Given the description of an element on the screen output the (x, y) to click on. 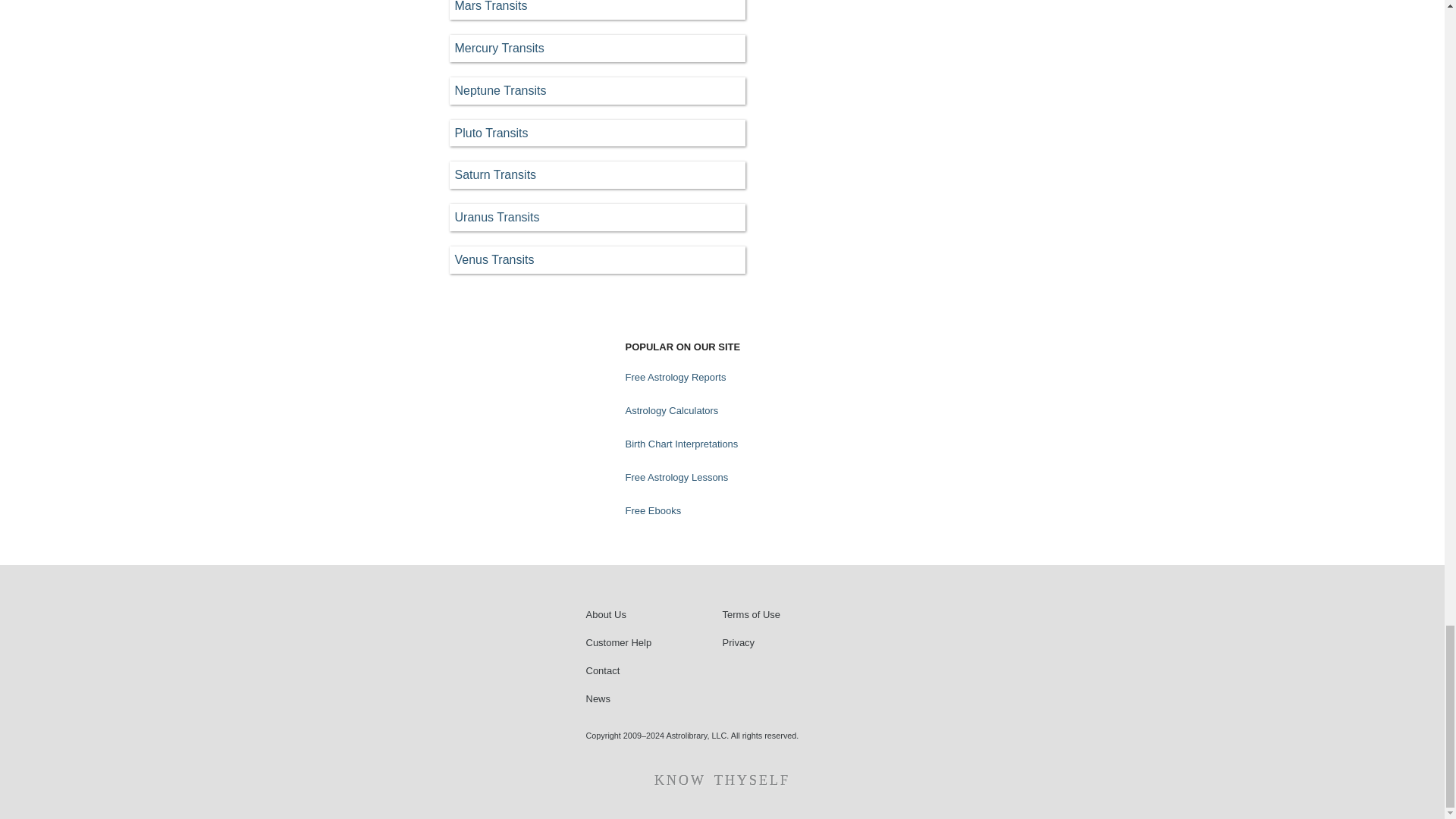
Mercury Transits (596, 48)
Uranus Transits (596, 216)
Astrology Calculators (670, 410)
Pluto Transits (596, 133)
Saturn Transits (596, 175)
Free Astrology Lessons (675, 477)
Mars Transits (596, 9)
Free Astrology Reports (675, 377)
Birth Chart Interpretations (681, 443)
Venus Transits (596, 259)
Neptune Transits (596, 90)
